Given the description of an element on the screen output the (x, y) to click on. 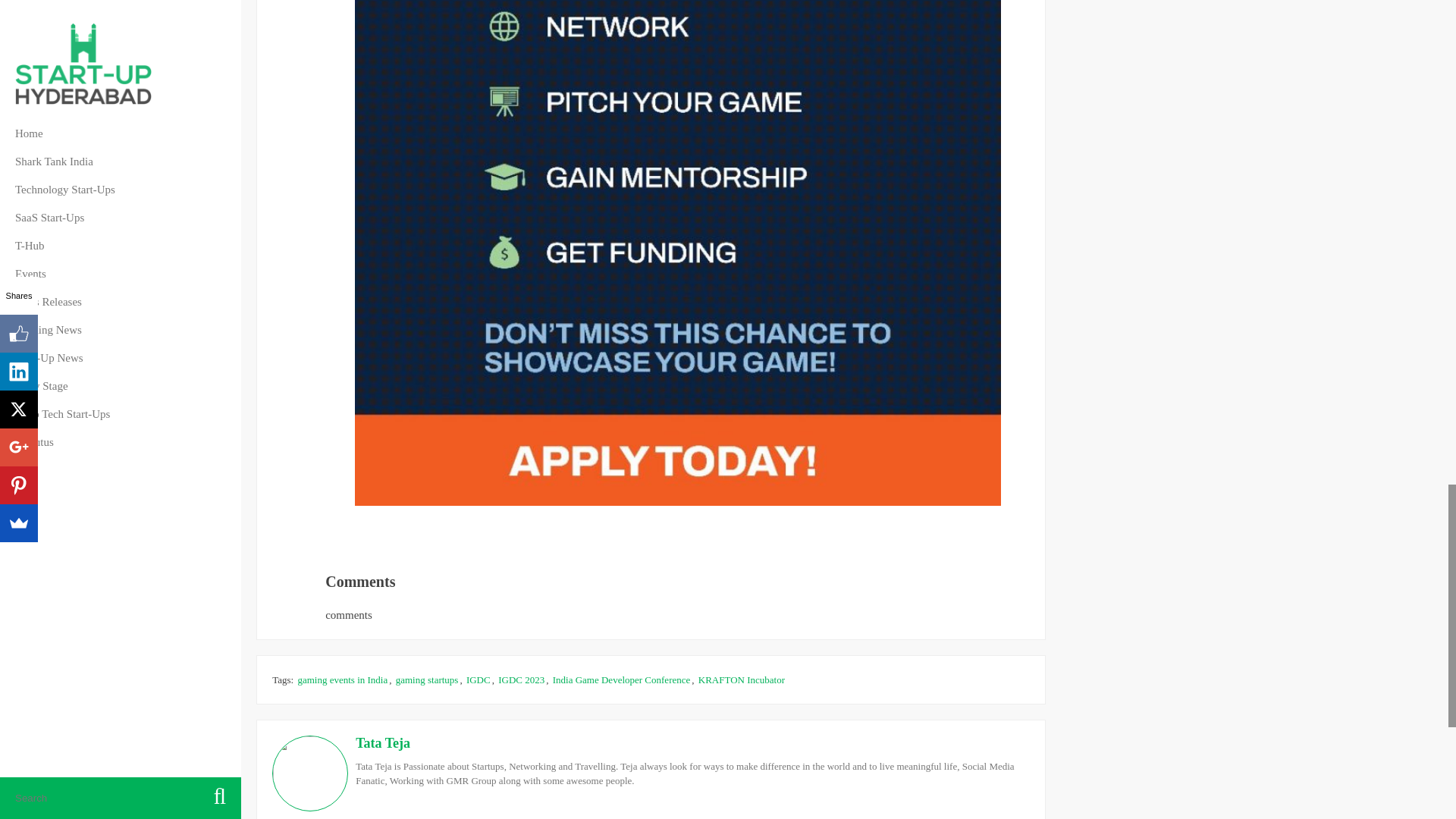
Tata Teja (382, 743)
Posts by Tata Teja (382, 743)
Advertisement (501, 546)
IGDC (478, 679)
gaming events in India (341, 679)
KRAFTON Incubator (741, 679)
gaming startups (427, 679)
India Game Developer Conference (622, 679)
IGDC 2023 (521, 679)
